Given the description of an element on the screen output the (x, y) to click on. 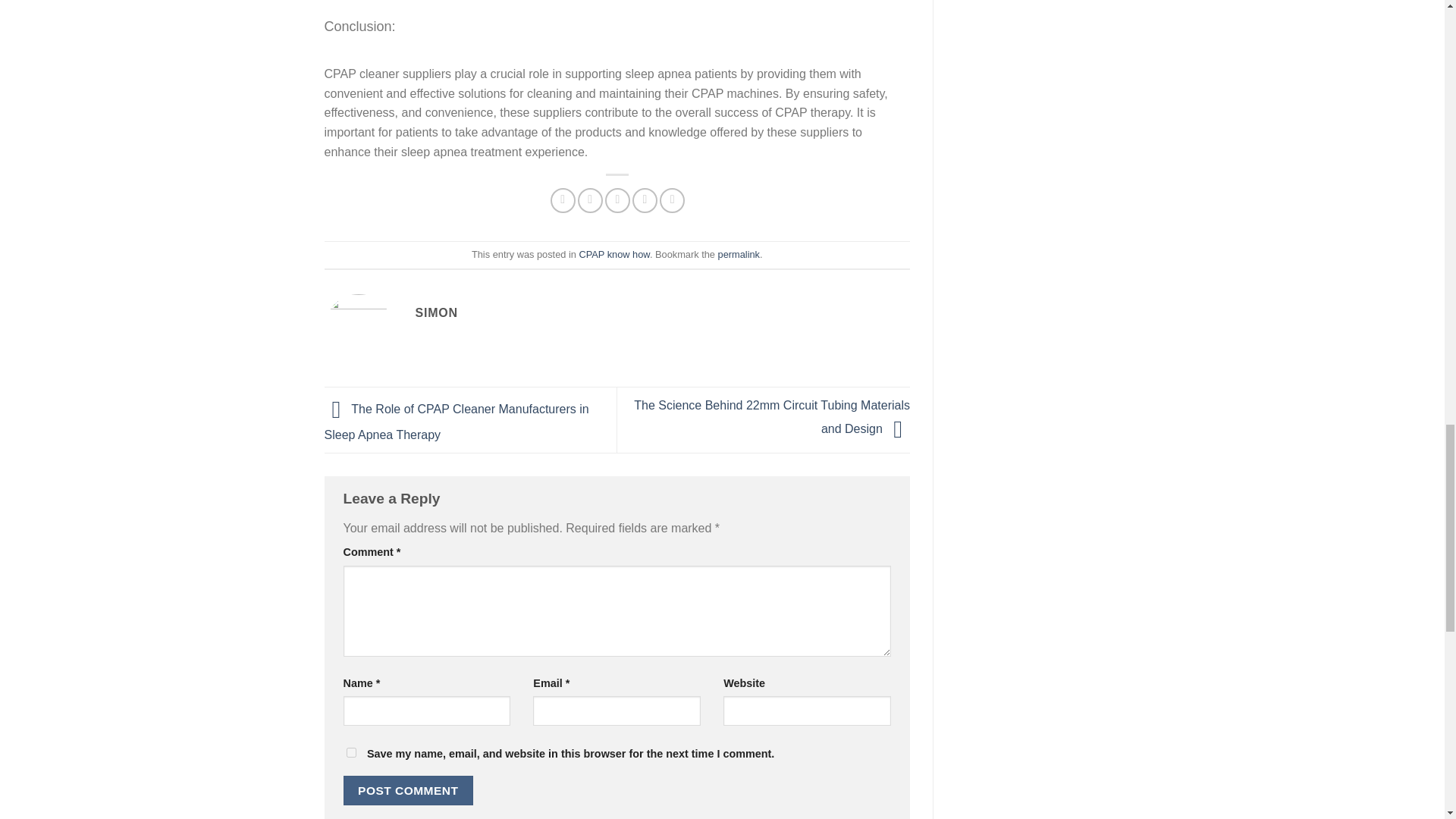
yes (350, 752)
permalink (738, 254)
Post Comment (407, 790)
The Science Behind 22mm Circuit Tubing Materials and Design (771, 416)
Share on Facebook (562, 200)
Pin on Pinterest (644, 200)
Post Comment (407, 790)
Email to a Friend (617, 200)
Share on Twitter (590, 200)
CPAP know how (613, 254)
Share on LinkedIn (671, 200)
